Given the description of an element on the screen output the (x, y) to click on. 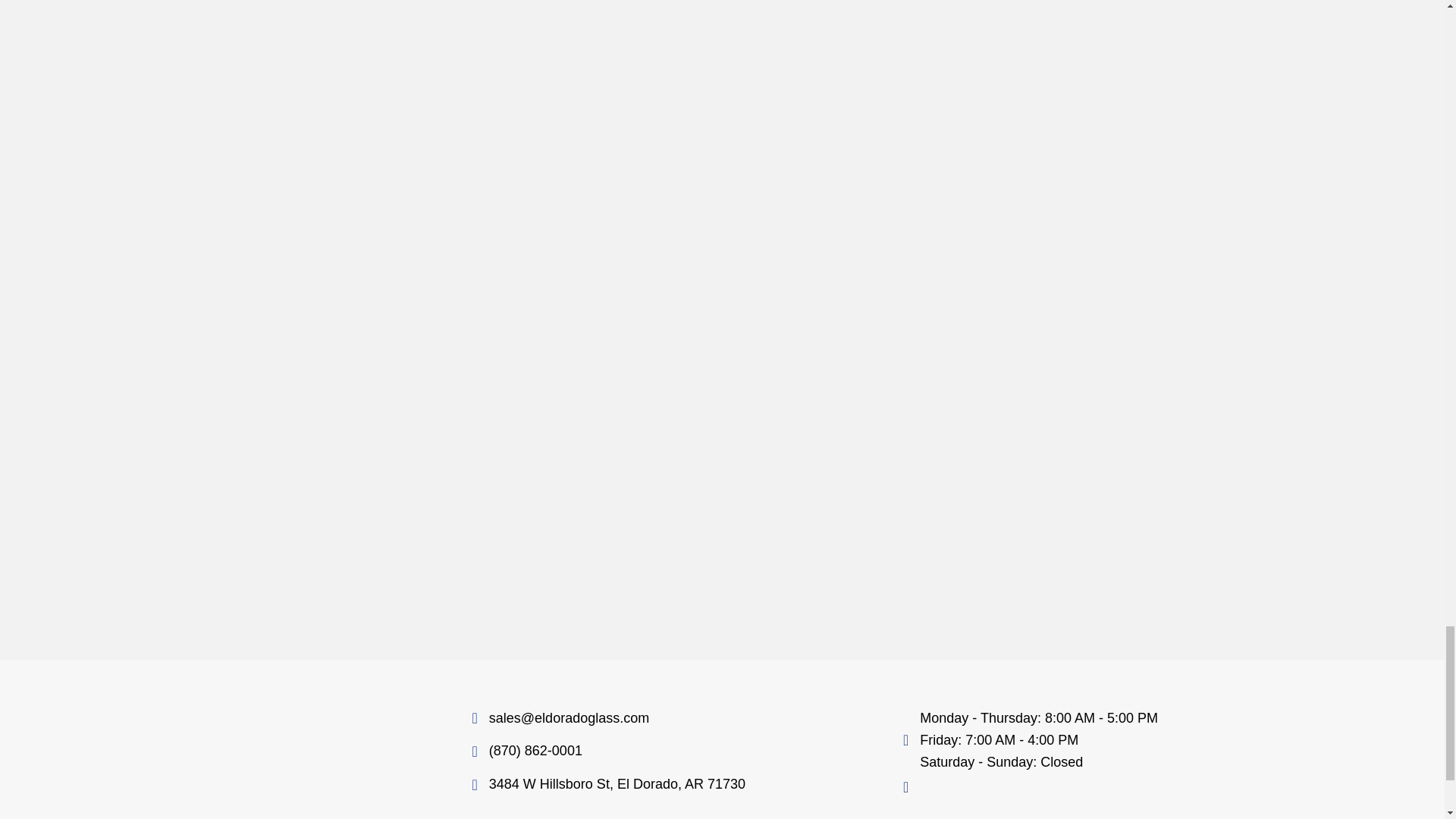
3484 W Hillsboro St, El Dorado, AR 71730 (617, 783)
logo (282, 748)
